Given the description of an element on the screen output the (x, y) to click on. 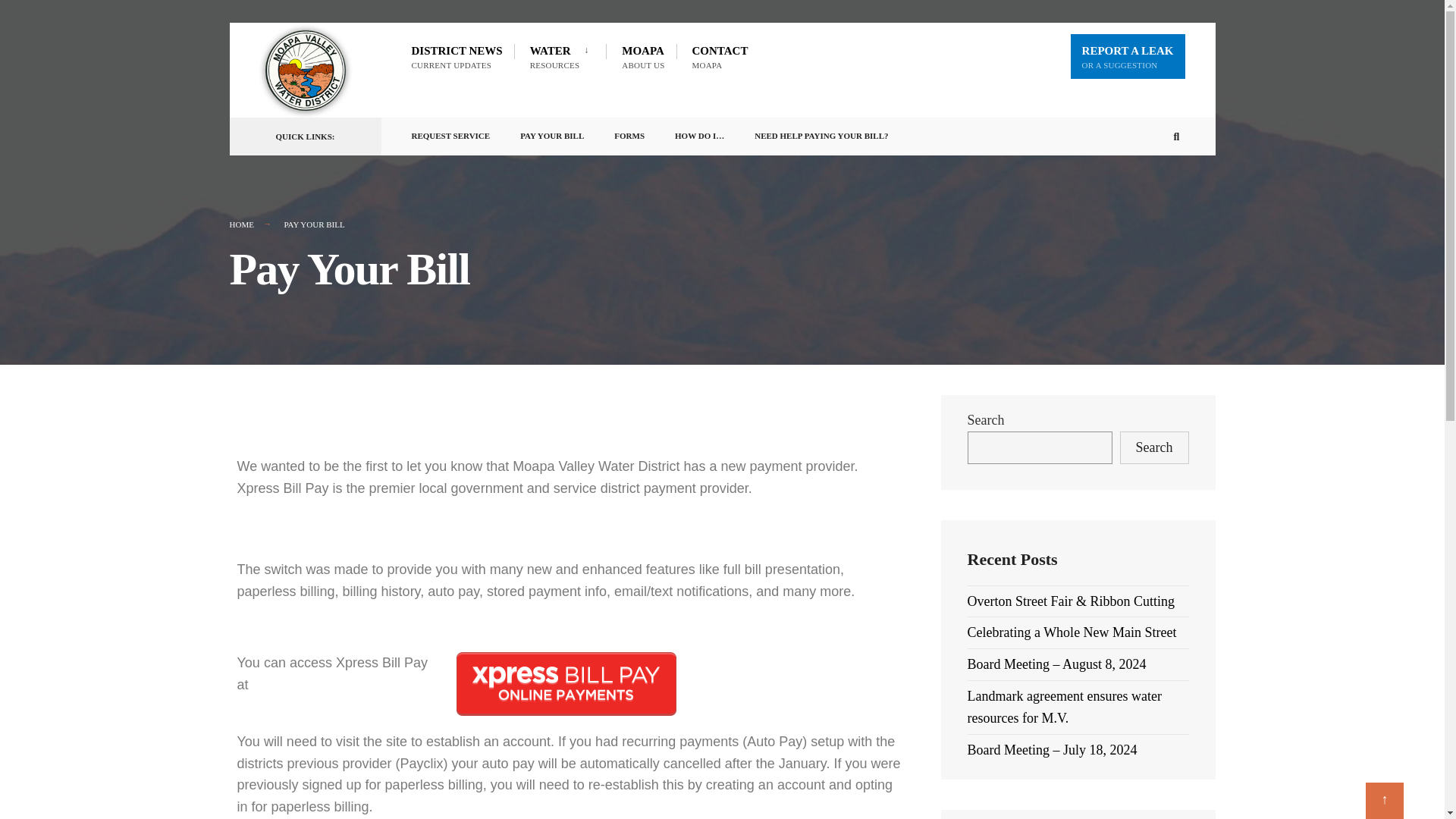
REQUEST SERVICE (449, 132)
NEED HELP PAYING YOUR BILL? (1127, 56)
Landmark agreement ensures water resources for M.V. (642, 56)
FORMS (562, 56)
Scroll to top (821, 132)
PAY YOUR BILL (1064, 706)
